Given the description of an element on the screen output the (x, y) to click on. 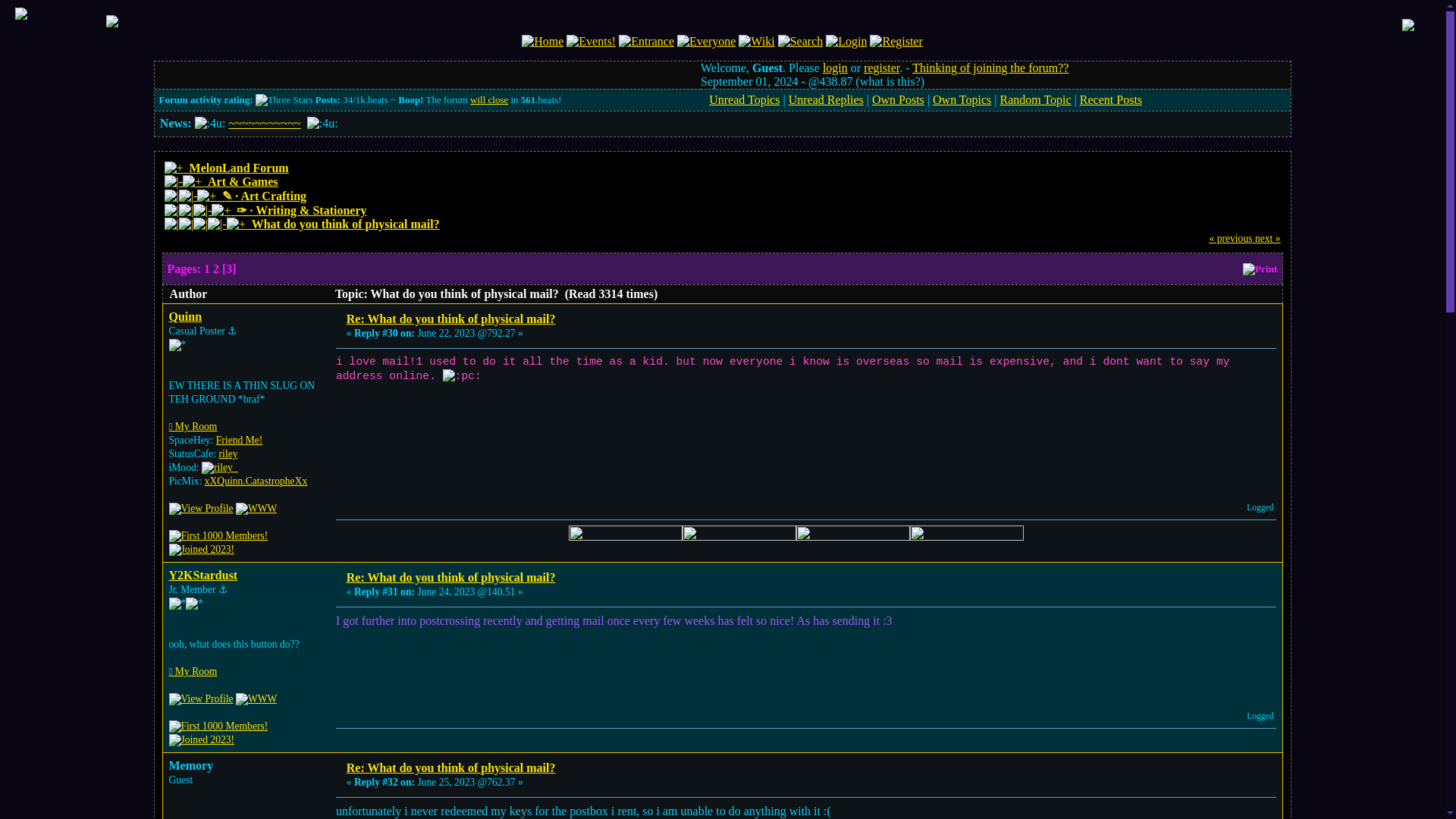
Gift 4 u! (322, 123)
Random Topic (1034, 99)
Unread Replies (826, 99)
Joined 2023! given by Melooon (201, 549)
Own Posts (898, 99)
Joined 2023! given by Melooon (201, 739)
First 1000 Members! given by Melooon (217, 535)
Thinking of joining the forum?? (990, 67)
Own Topics (962, 99)
What do you think of physical mail? (345, 223)
